Given the description of an element on the screen output the (x, y) to click on. 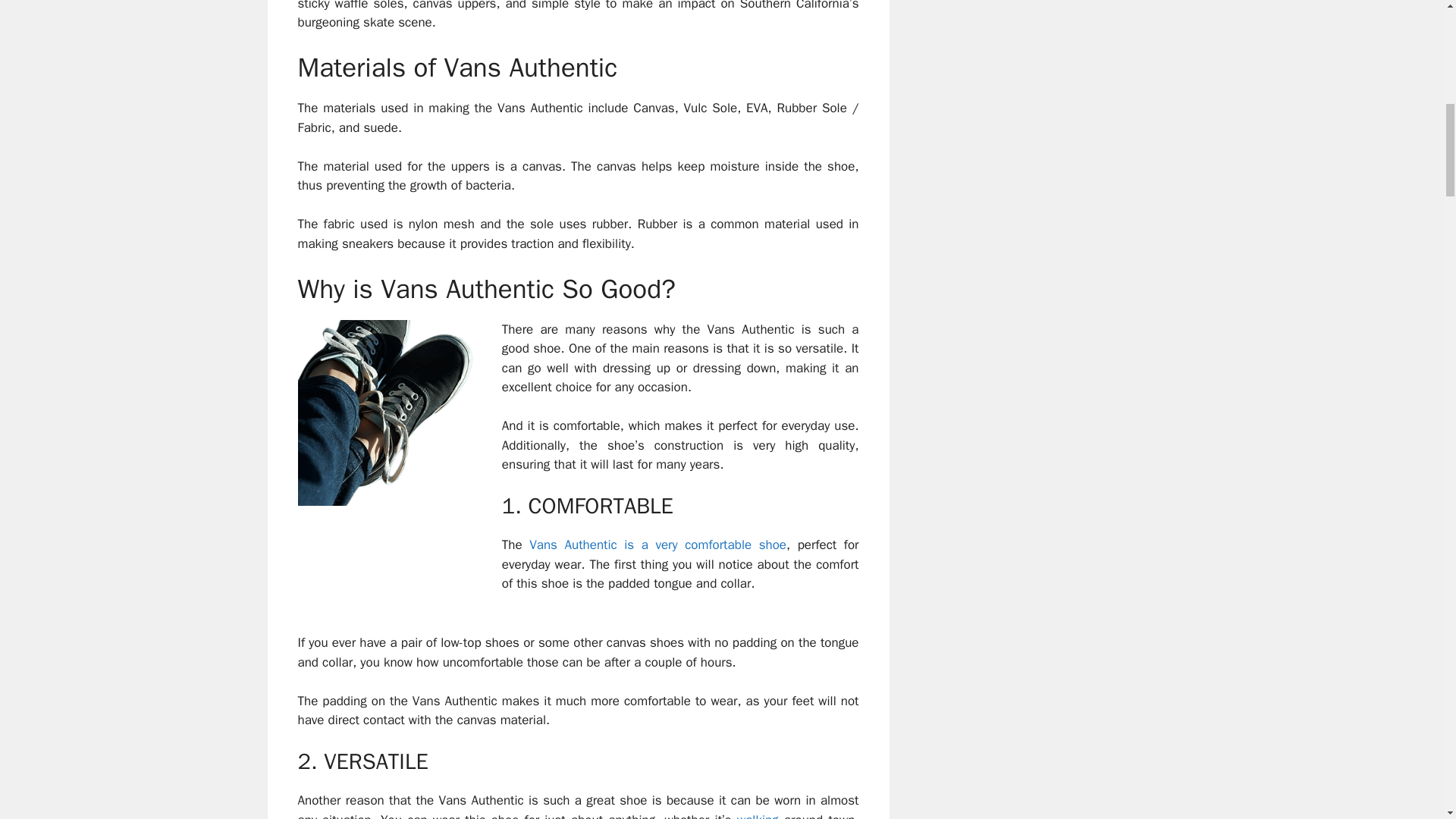
walking (757, 815)
Vans Authentic is a very comfortable shoe (657, 544)
Scroll back to top (1406, 720)
